Given the description of an element on the screen output the (x, y) to click on. 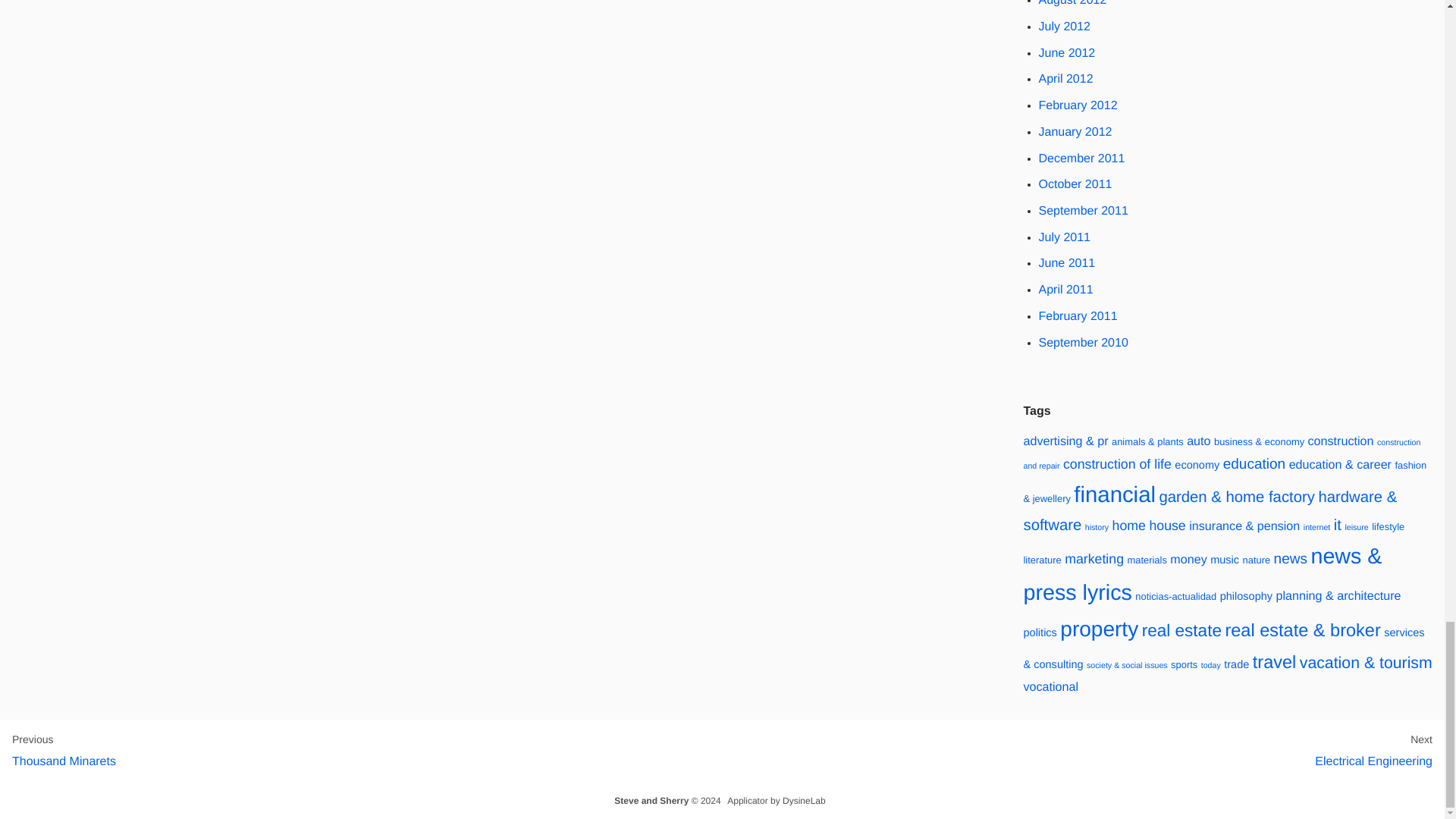
Next Entry: Electrical Engineering (1373, 751)
Previous Entry: Thousand Minarets (63, 751)
